Given the description of an element on the screen output the (x, y) to click on. 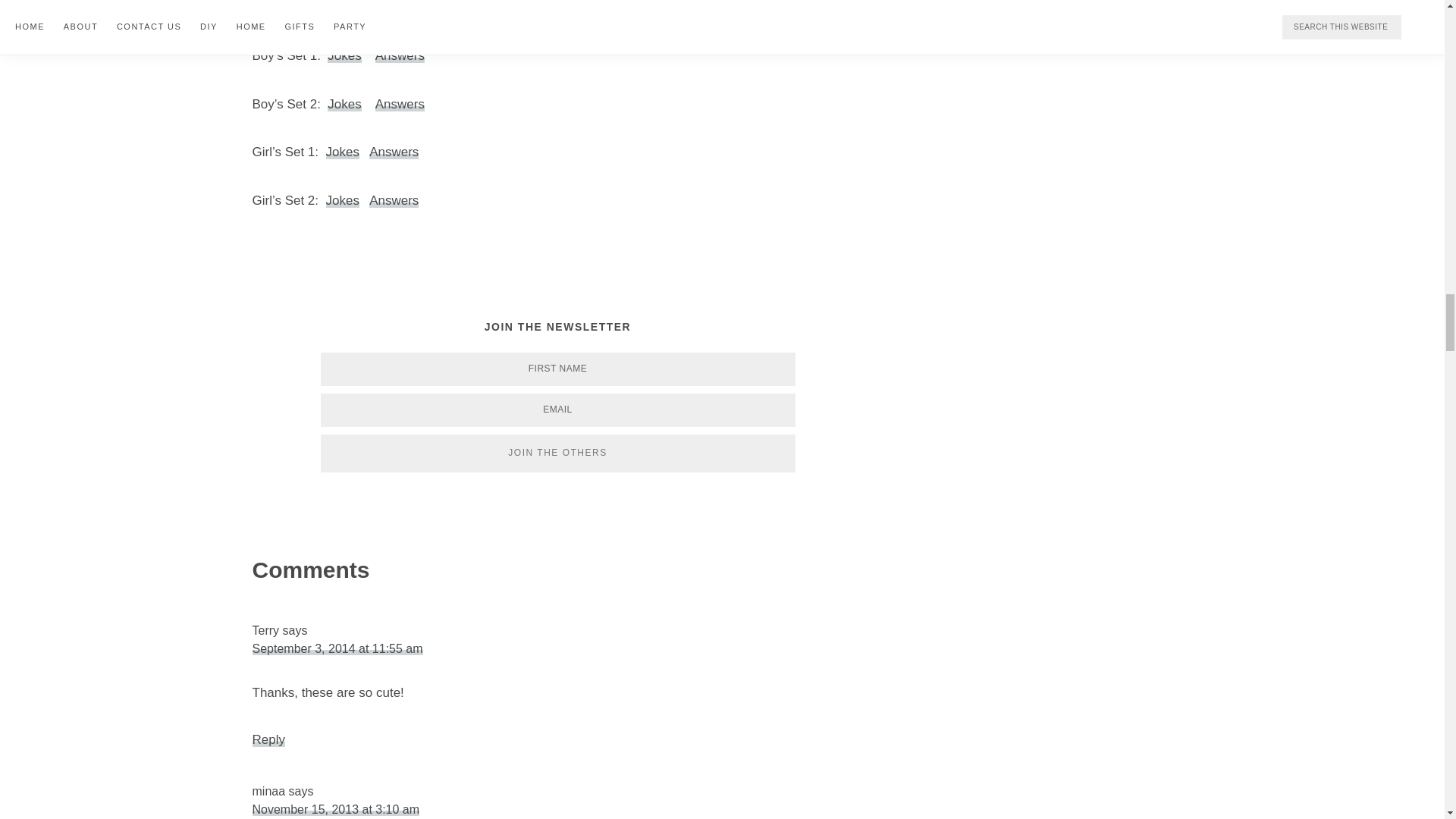
Answers (400, 104)
Jokes (344, 55)
September 3, 2014 at 11:55 am (336, 648)
November 15, 2013 at 3:10 am (335, 809)
Jokes (342, 151)
Reply (267, 739)
Join the Others (557, 453)
Answers (394, 151)
Jokes (344, 104)
Jokes (342, 200)
Join the Others (557, 453)
Answers (394, 200)
Answers (400, 55)
